Given the description of an element on the screen output the (x, y) to click on. 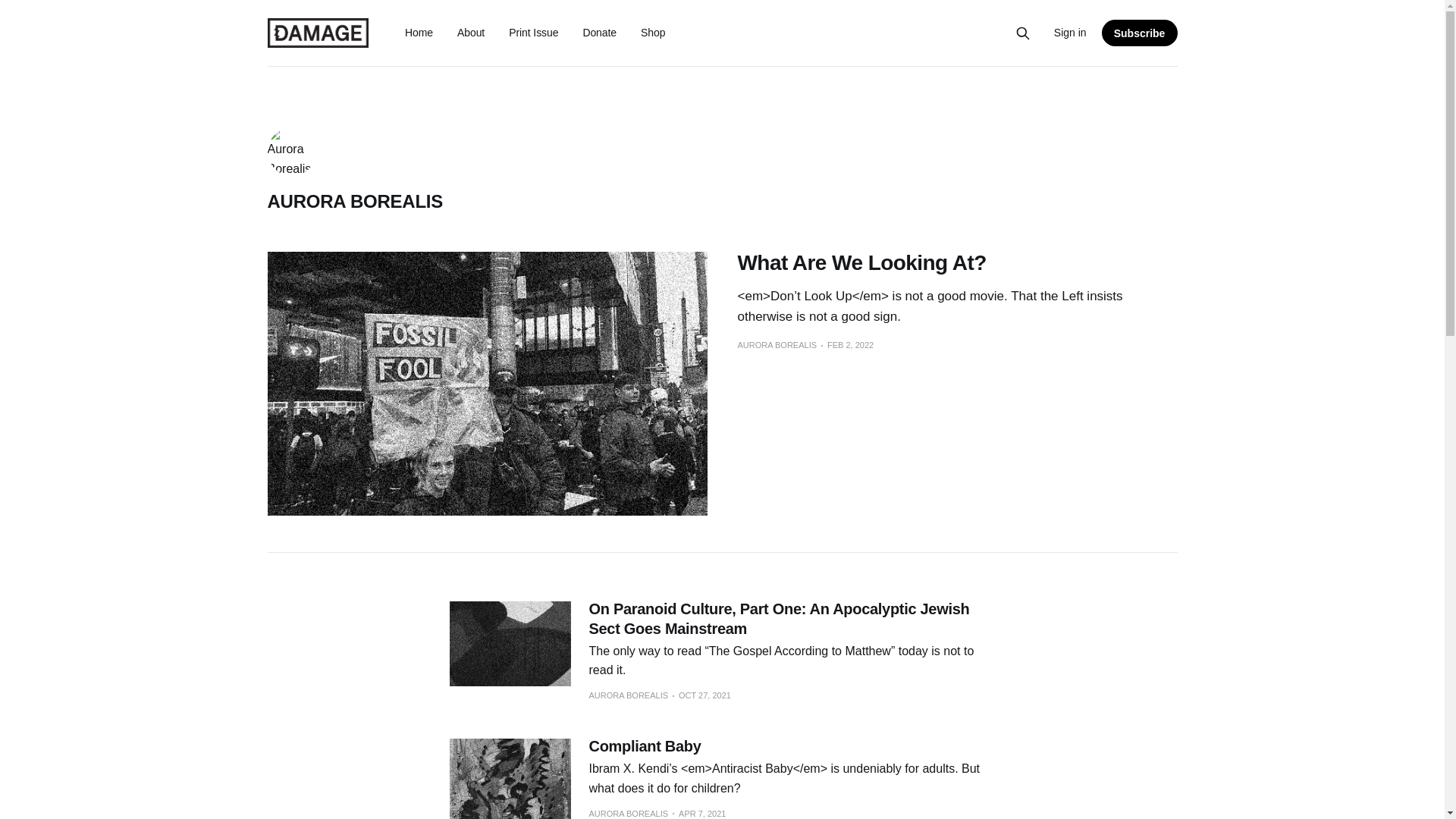
Subscribe (1139, 32)
Sign in (1070, 32)
Shop (652, 32)
About (470, 32)
Print Issue (532, 32)
Donate (598, 32)
Home (418, 32)
